Given the description of an element on the screen output the (x, y) to click on. 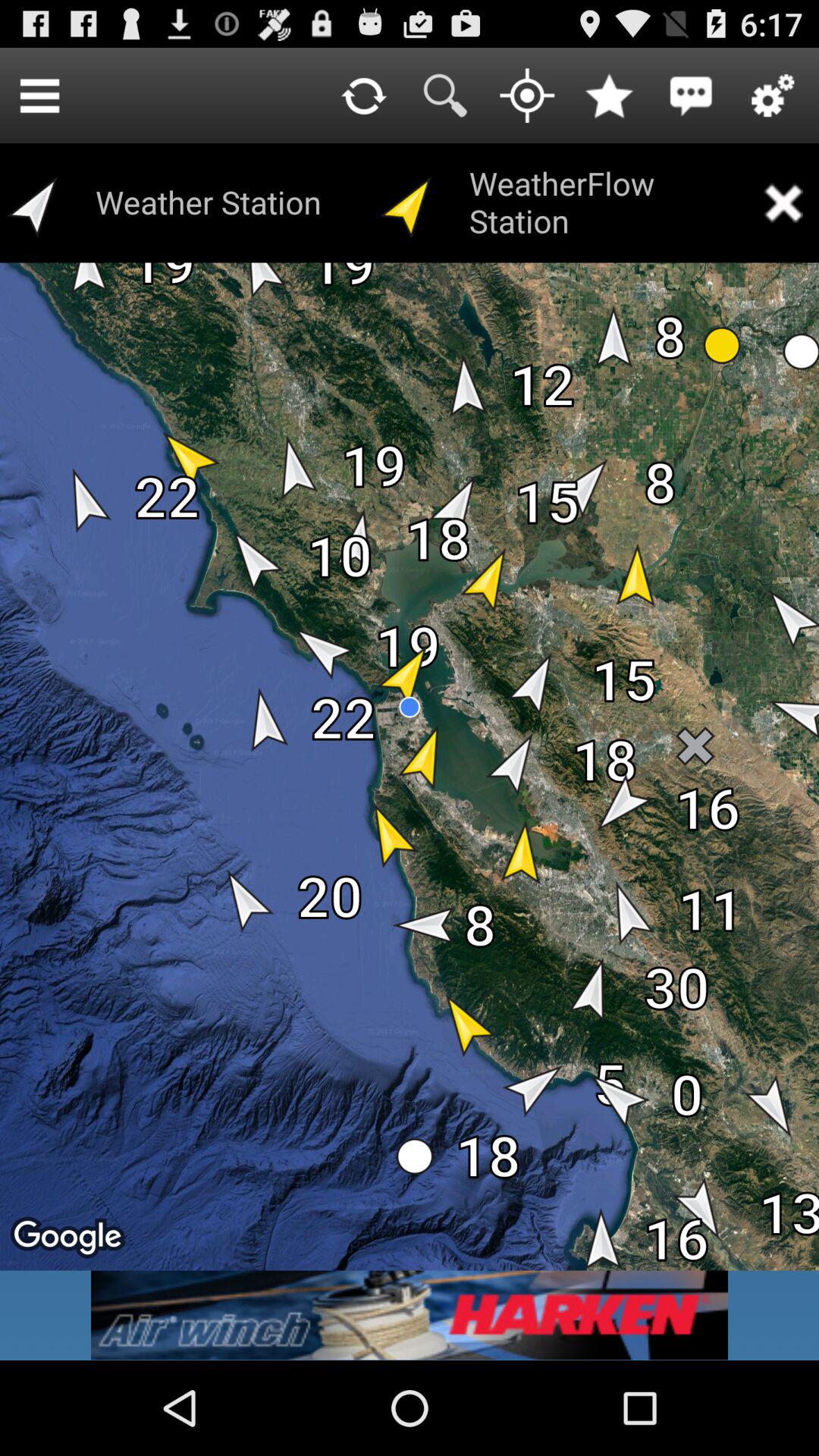
open search bar (445, 95)
